Given the description of an element on the screen output the (x, y) to click on. 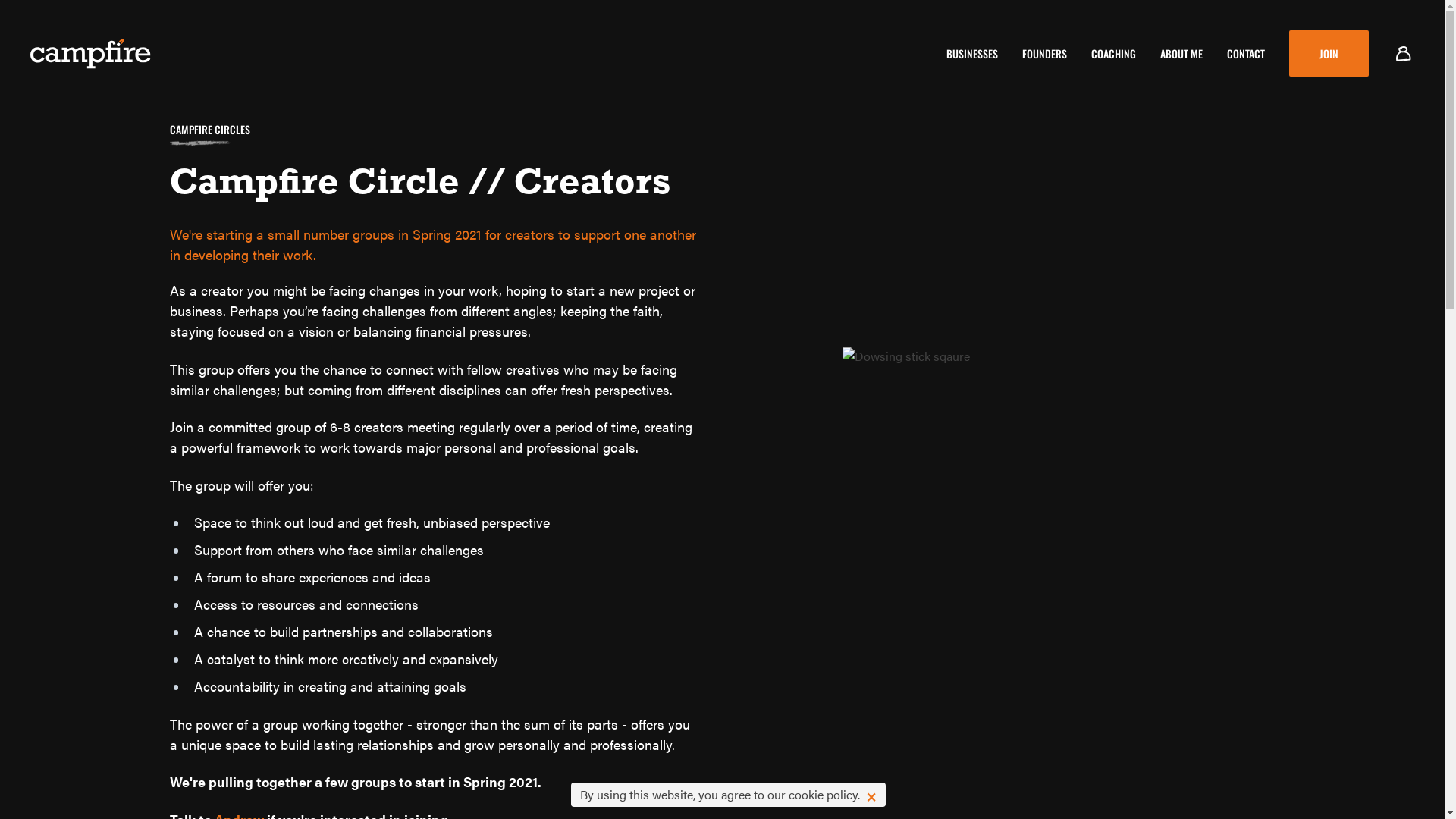
JOIN Element type: text (1328, 53)
ABOUT ME Element type: text (1181, 53)
CONTACT Element type: text (1245, 53)
BUSINESSES Element type: text (971, 53)
cookie policy Element type: text (822, 794)
COACHING Element type: text (1113, 53)
FOUNDERS Element type: text (1044, 53)
